Given the description of an element on the screen output the (x, y) to click on. 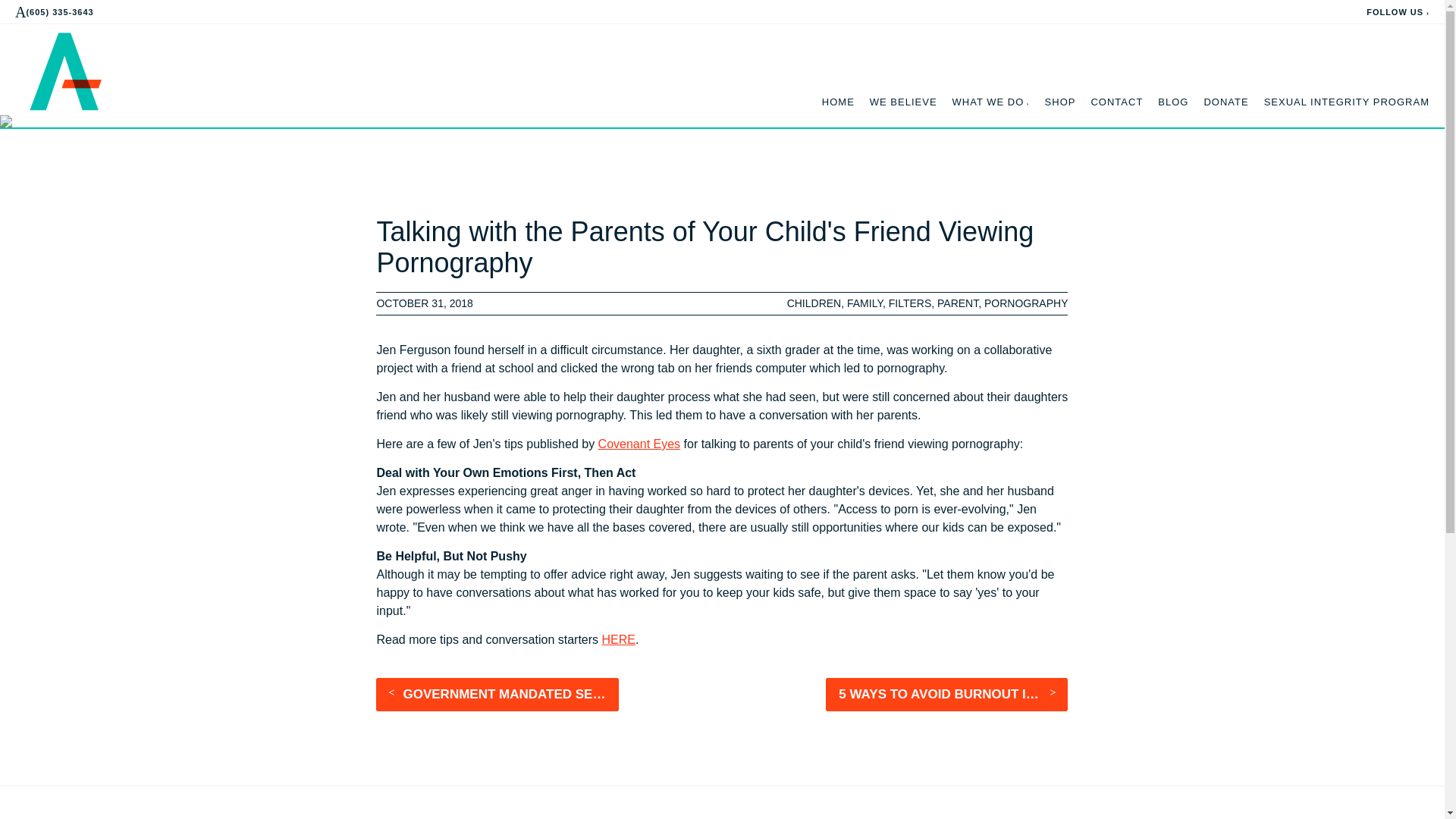
CHILDREN (814, 303)
PARENT (957, 303)
FILTERS (909, 303)
HOME (838, 102)
FAMILY (864, 303)
CONTACT (1116, 102)
DONATE (1225, 102)
WE BELIEVE (903, 102)
SHOP (1060, 102)
BLOG (1172, 102)
8:22 pm (510, 303)
SEXUAL INTEGRITY PROGRAM (1346, 102)
PORNOGRAPHY (1025, 303)
OCTOBER 31, 2018 (510, 303)
